Given the description of an element on the screen output the (x, y) to click on. 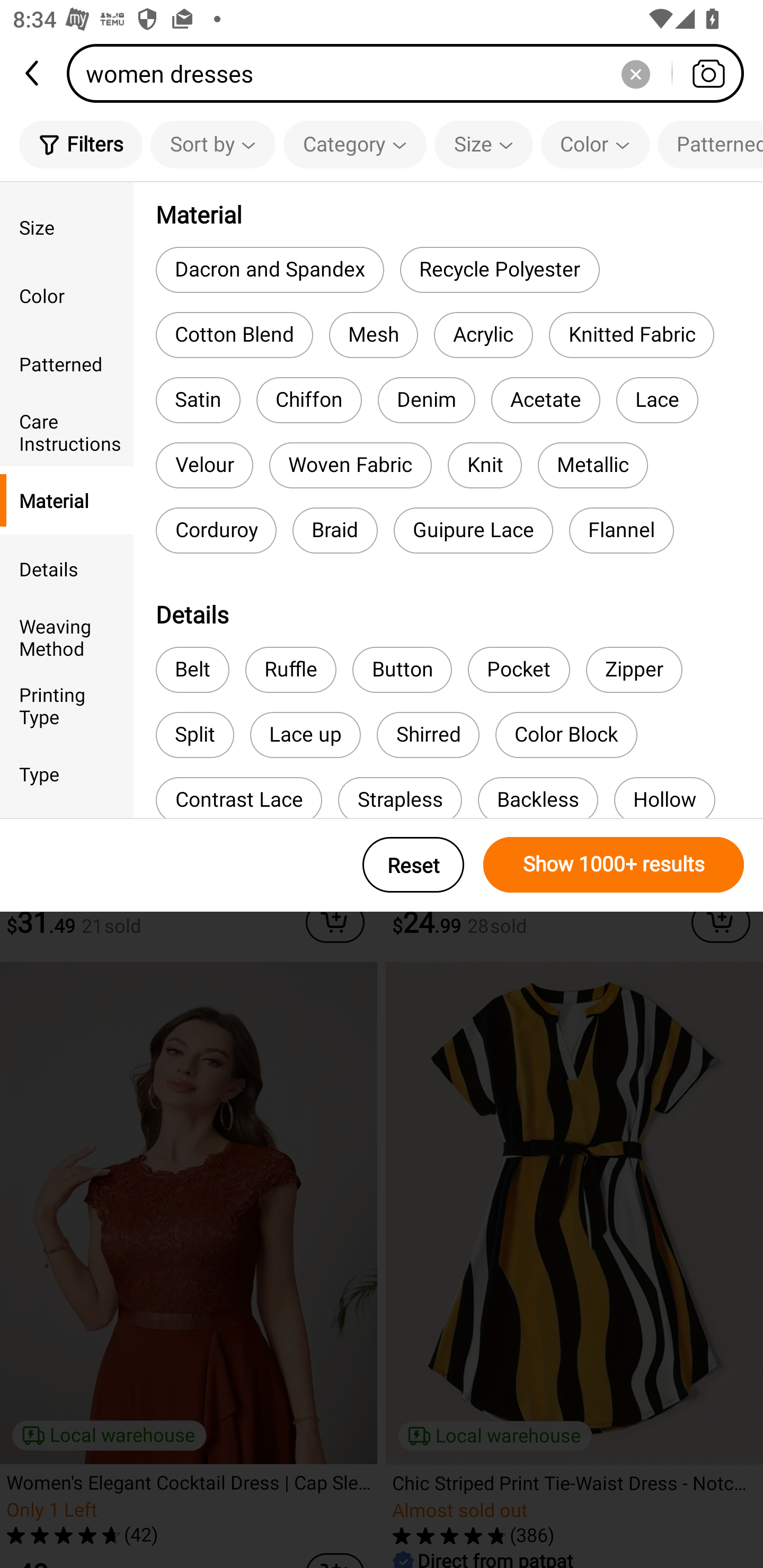
back (33, 72)
women dresses (411, 73)
Delete search history (635, 73)
Search by photo (708, 73)
Filters (80, 143)
Sort by (212, 143)
Category (354, 143)
Size (483, 143)
Color (594, 143)
Patterned (710, 143)
Size (66, 226)
Dacron and Spandex (269, 269)
Recycle Polyester (499, 269)
Color (66, 295)
Cotton Blend (233, 334)
Mesh (373, 334)
Acrylic (483, 334)
Knitted Fabric (631, 334)
Patterned (66, 363)
Satin (197, 400)
Chiffon (308, 400)
Denim (426, 400)
Acetate (545, 400)
Lace (657, 400)
Care Instructions (66, 431)
Velour (204, 464)
Woven Fabric (350, 464)
Knit (484, 464)
Metallic (592, 464)
Material (66, 499)
Corduroy (215, 530)
Braid (334, 530)
Guipure Lace (473, 530)
Flannel (621, 530)
Details (66, 568)
Weaving Method (66, 636)
Belt (192, 669)
Ruffle (290, 669)
Button (401, 669)
Pocket (518, 669)
Zipper (633, 669)
Printing Type (66, 705)
Split (194, 734)
Lace up (305, 734)
Shirred (427, 734)
Color Block (566, 734)
Type (66, 773)
Contrast Lace (238, 797)
Strapless (400, 797)
Backless (537, 797)
Hollow (664, 797)
Reset (412, 864)
Show 1000+ results (612, 864)
